Given the description of an element on the screen output the (x, y) to click on. 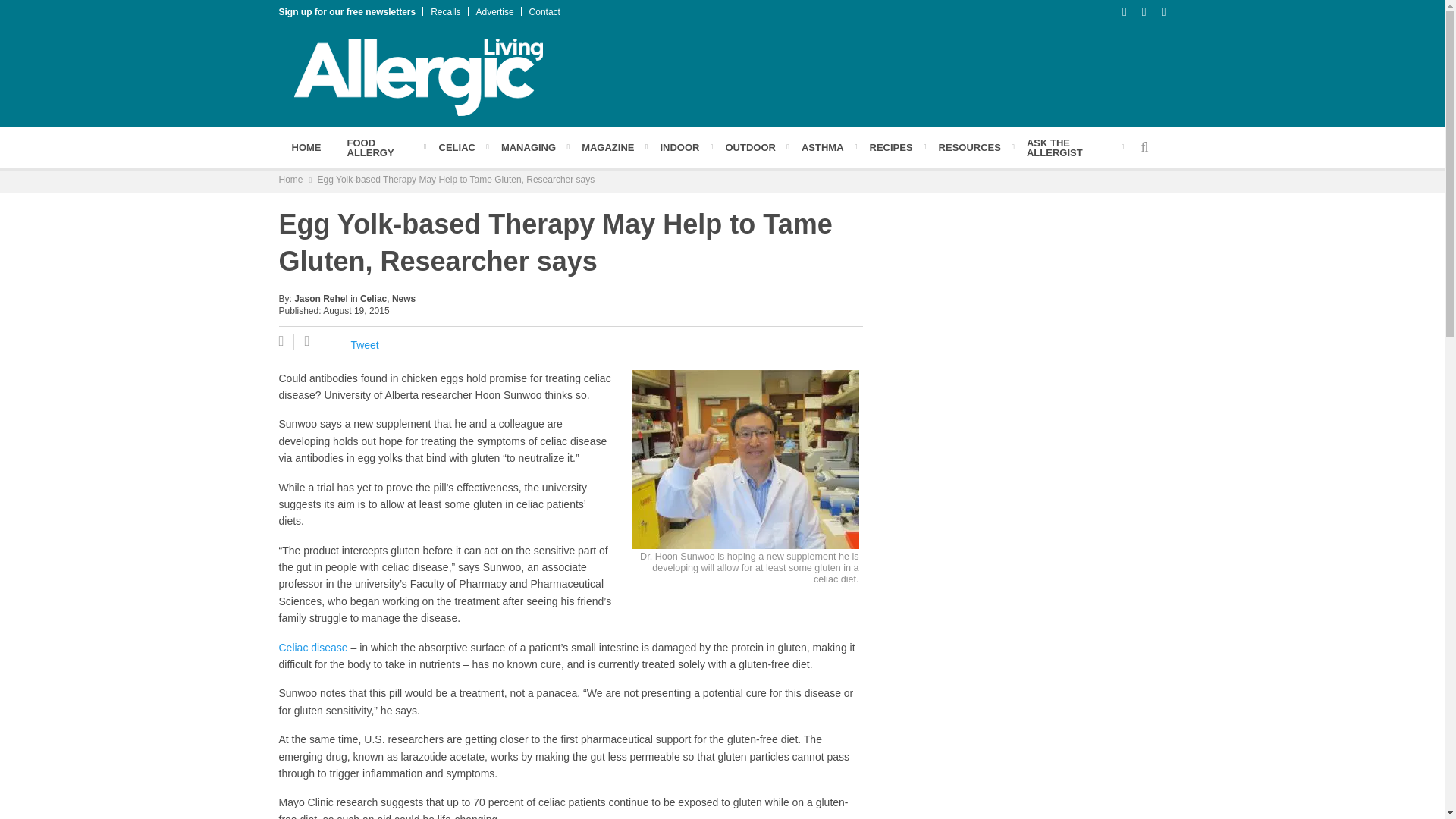
Recalls (445, 11)
MANAGING (528, 146)
Advertise (494, 11)
HOME (306, 146)
FOOD ALLERGY (379, 146)
CELIAC (456, 146)
Sign up for our free newsletters (346, 11)
Food Allergy (379, 146)
Allergic Living (418, 75)
Posts by Jason Rehel (320, 298)
Contact (544, 11)
